Given the description of an element on the screen output the (x, y) to click on. 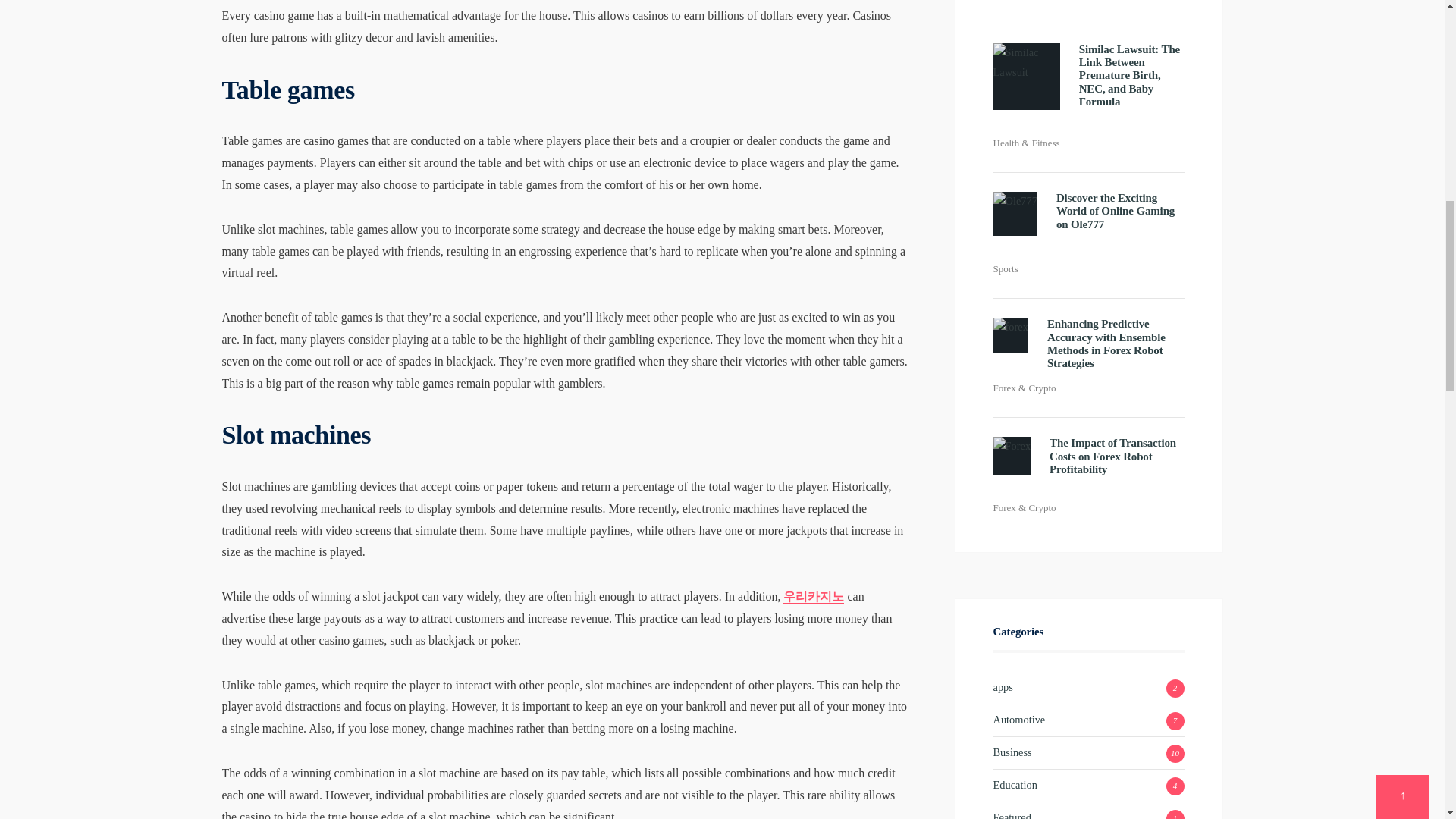
Discover the Exciting World of Online Gaming on Ole777 (1014, 213)
